Given the description of an element on the screen output the (x, y) to click on. 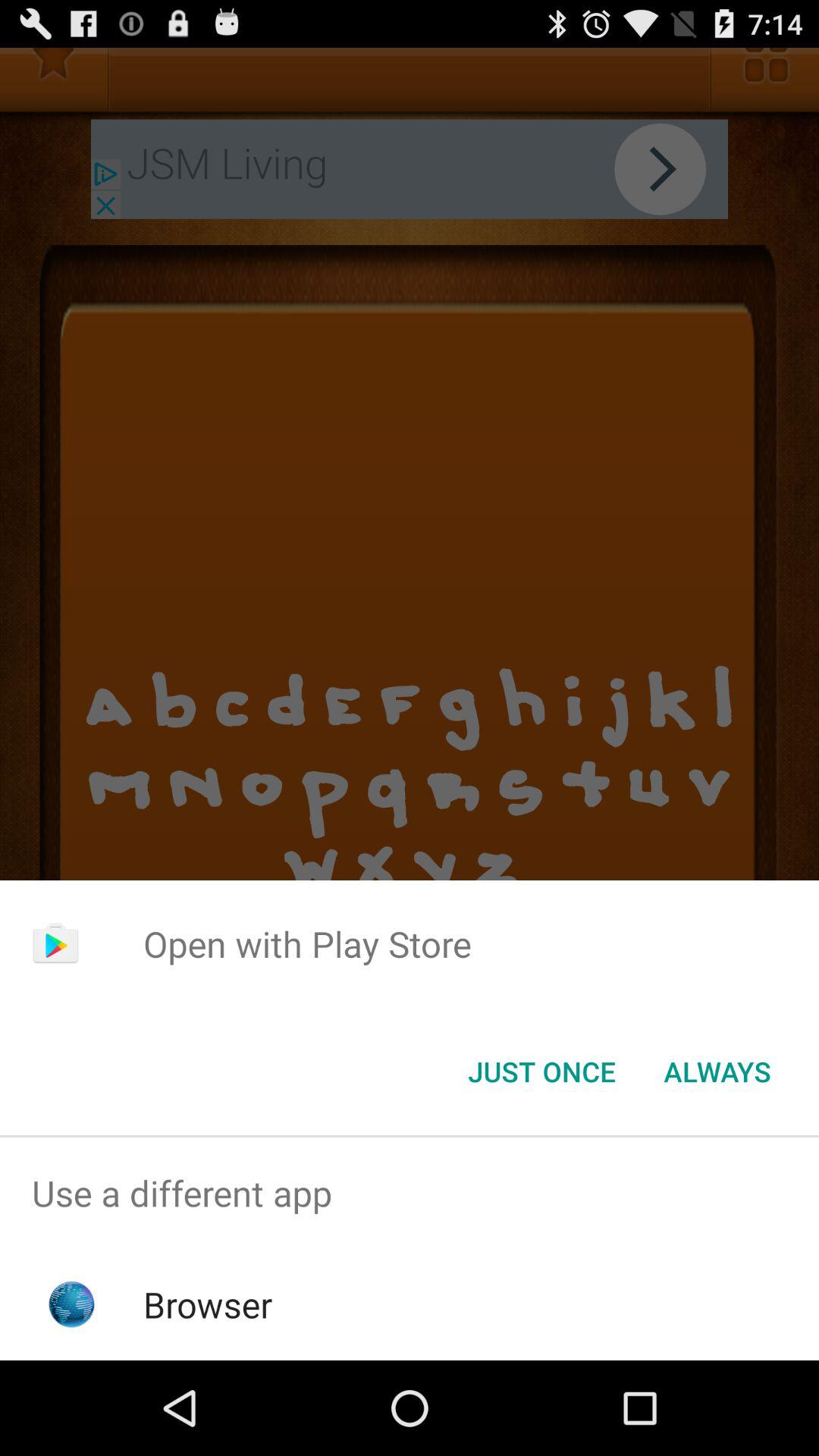
swipe to the always button (717, 1071)
